Given the description of an element on the screen output the (x, y) to click on. 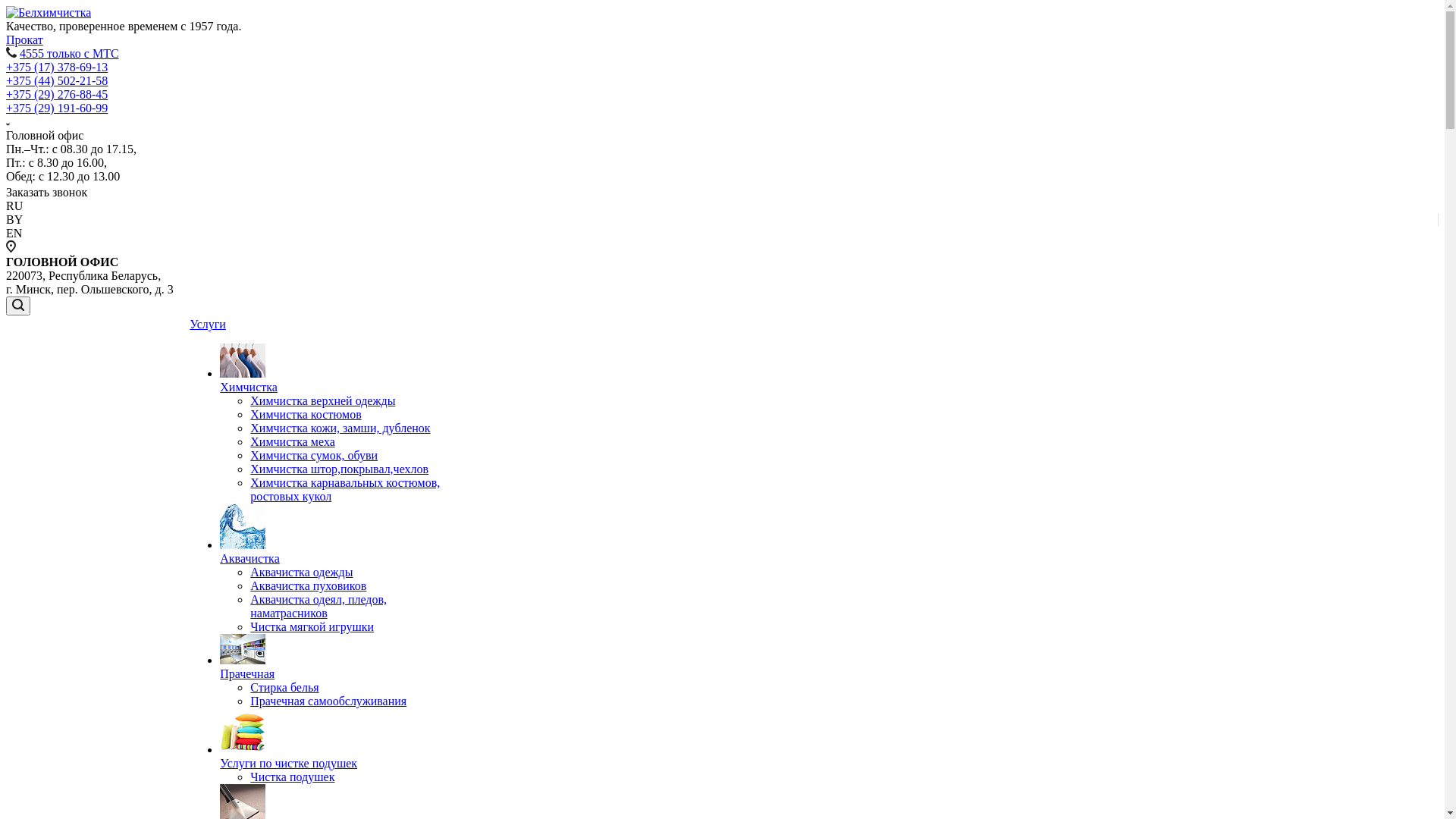
+375 (44) 502-21-58 Element type: text (56, 80)
+375 (17) 378-69-13 Element type: text (56, 66)
+375 (29) 276-88-45 Element type: text (56, 93)
+375 (29) 191-60-99 Element type: text (56, 107)
